Given the description of an element on the screen output the (x, y) to click on. 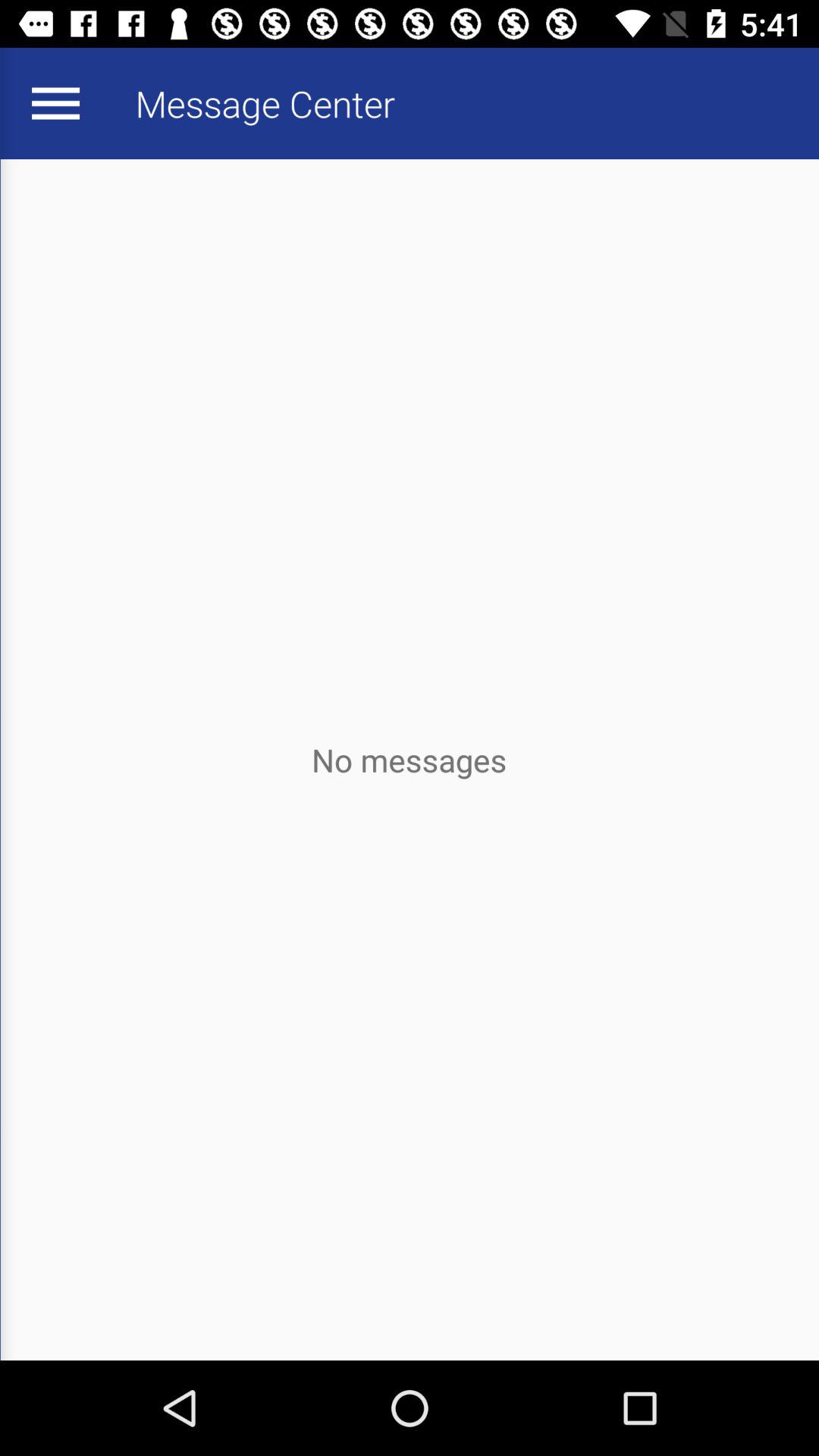
access apps manue (55, 103)
